Given the description of an element on the screen output the (x, y) to click on. 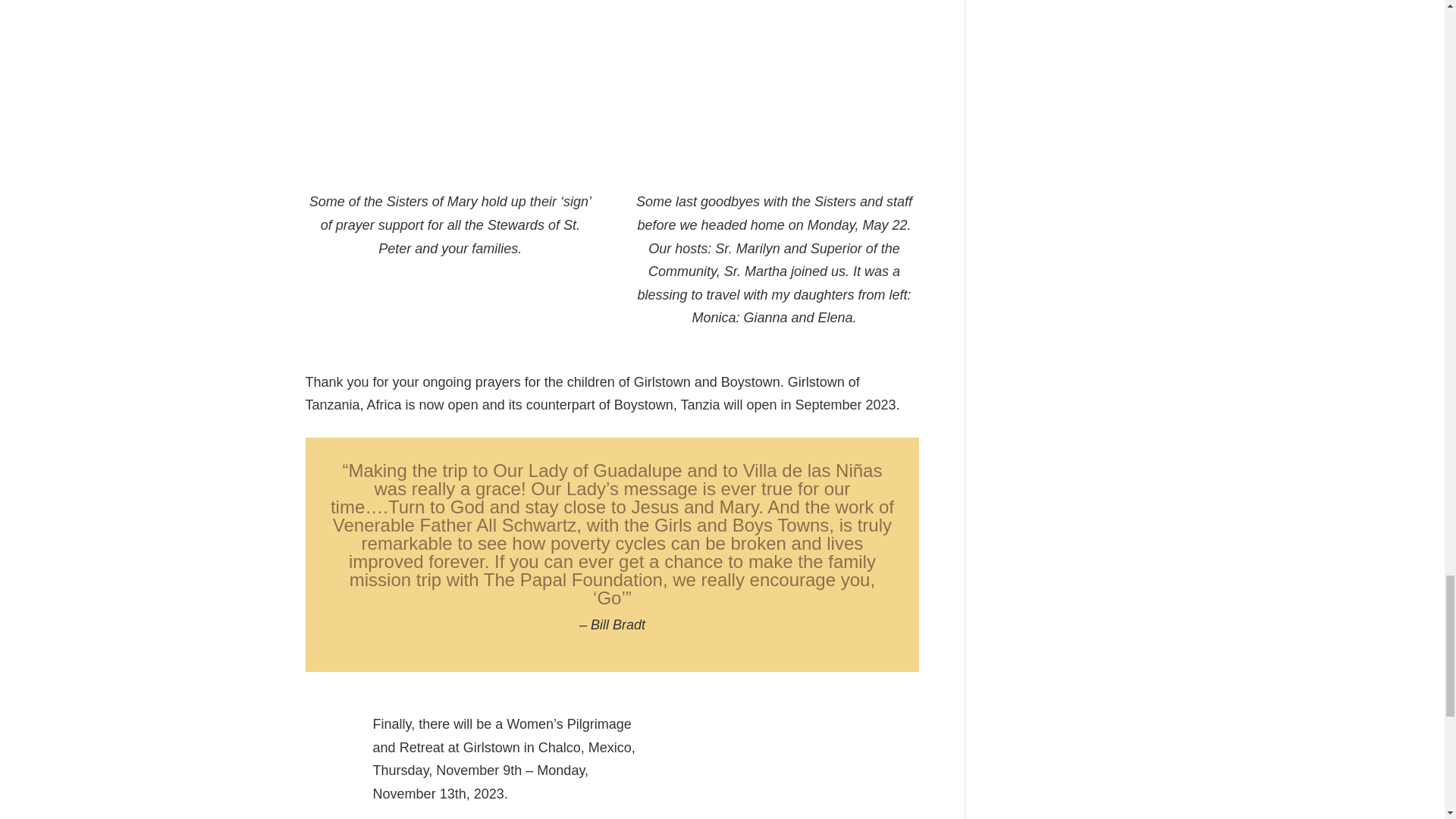
gif4 (774, 86)
video-thumb (763, 765)
photo6 (449, 86)
